Given the description of an element on the screen output the (x, y) to click on. 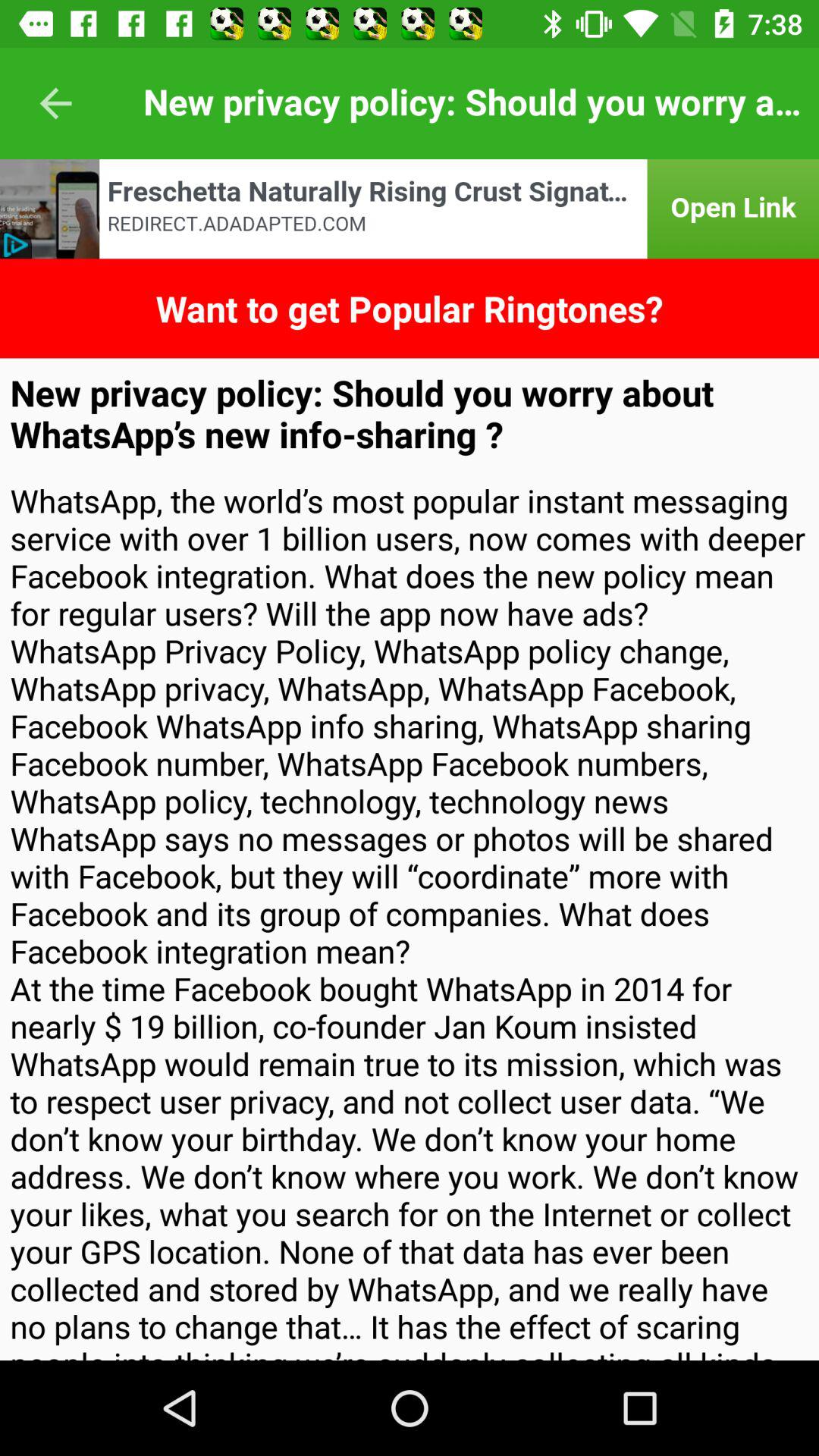
select the item above new privacy policy icon (409, 308)
